Given the description of an element on the screen output the (x, y) to click on. 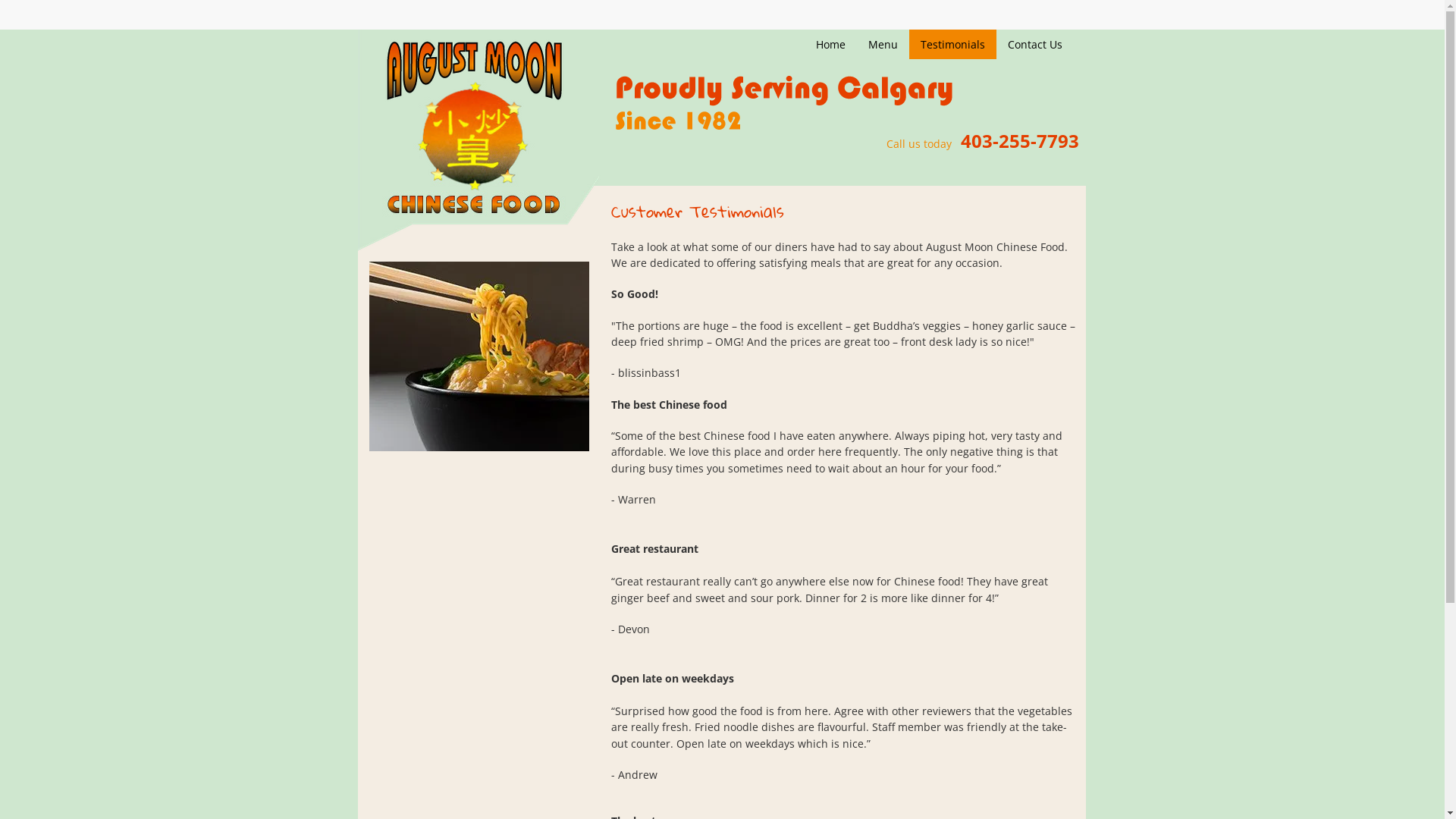
Home Element type: text (830, 44)
Testimonials Element type: text (952, 44)
403-255-7793 Element type: text (1019, 143)
Contact Us Element type: text (1034, 44)
Menu Element type: text (882, 44)
